Given the description of an element on the screen output the (x, y) to click on. 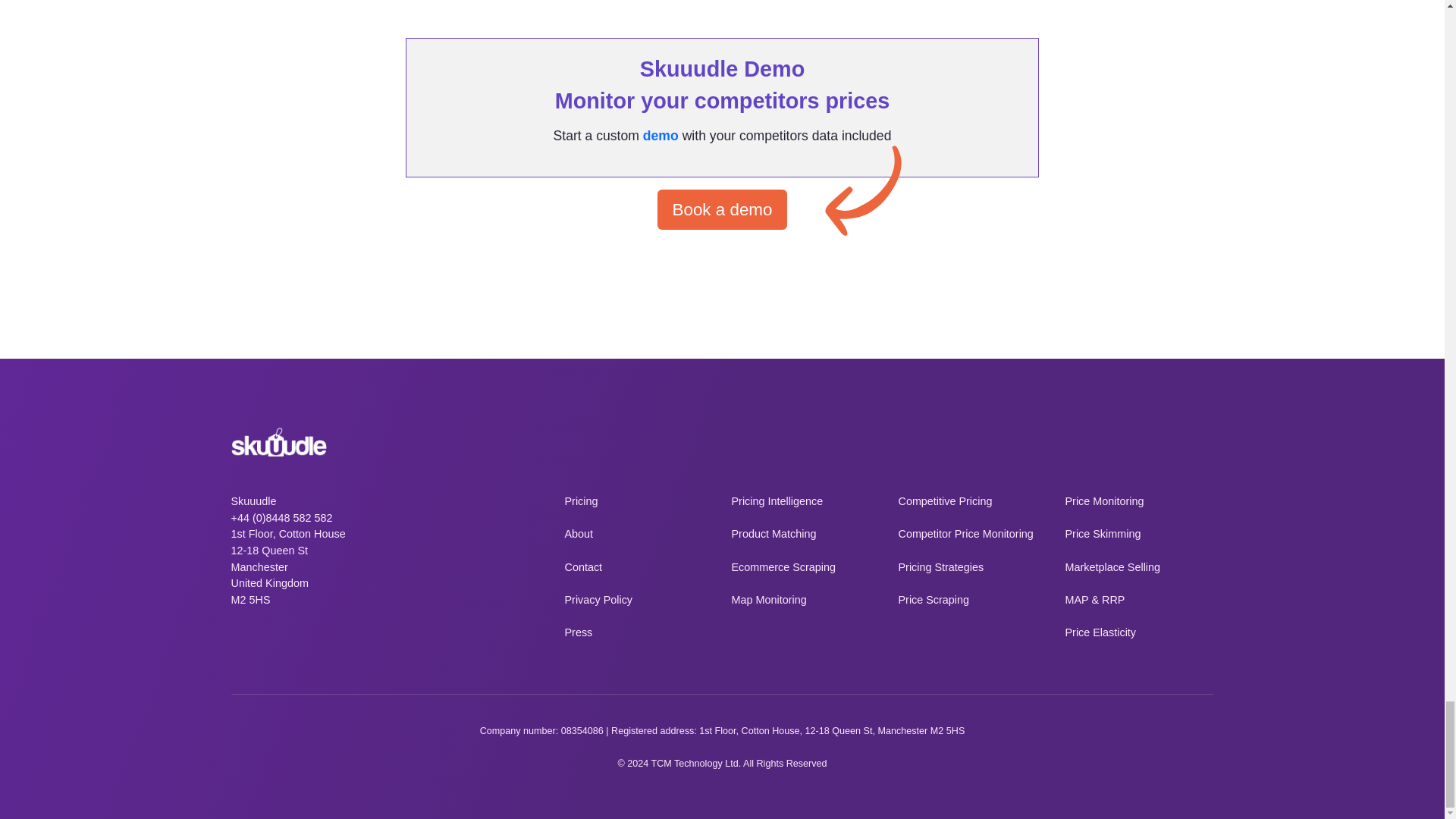
demo (660, 135)
Competitor Price Monitoring (972, 534)
Book a demo (721, 209)
Press (638, 632)
About (638, 534)
Price Scraping (972, 600)
Privacy Policy (638, 600)
Price Monitoring (1138, 501)
Pricing (638, 501)
Competitive Pricing (972, 501)
